Given the description of an element on the screen output the (x, y) to click on. 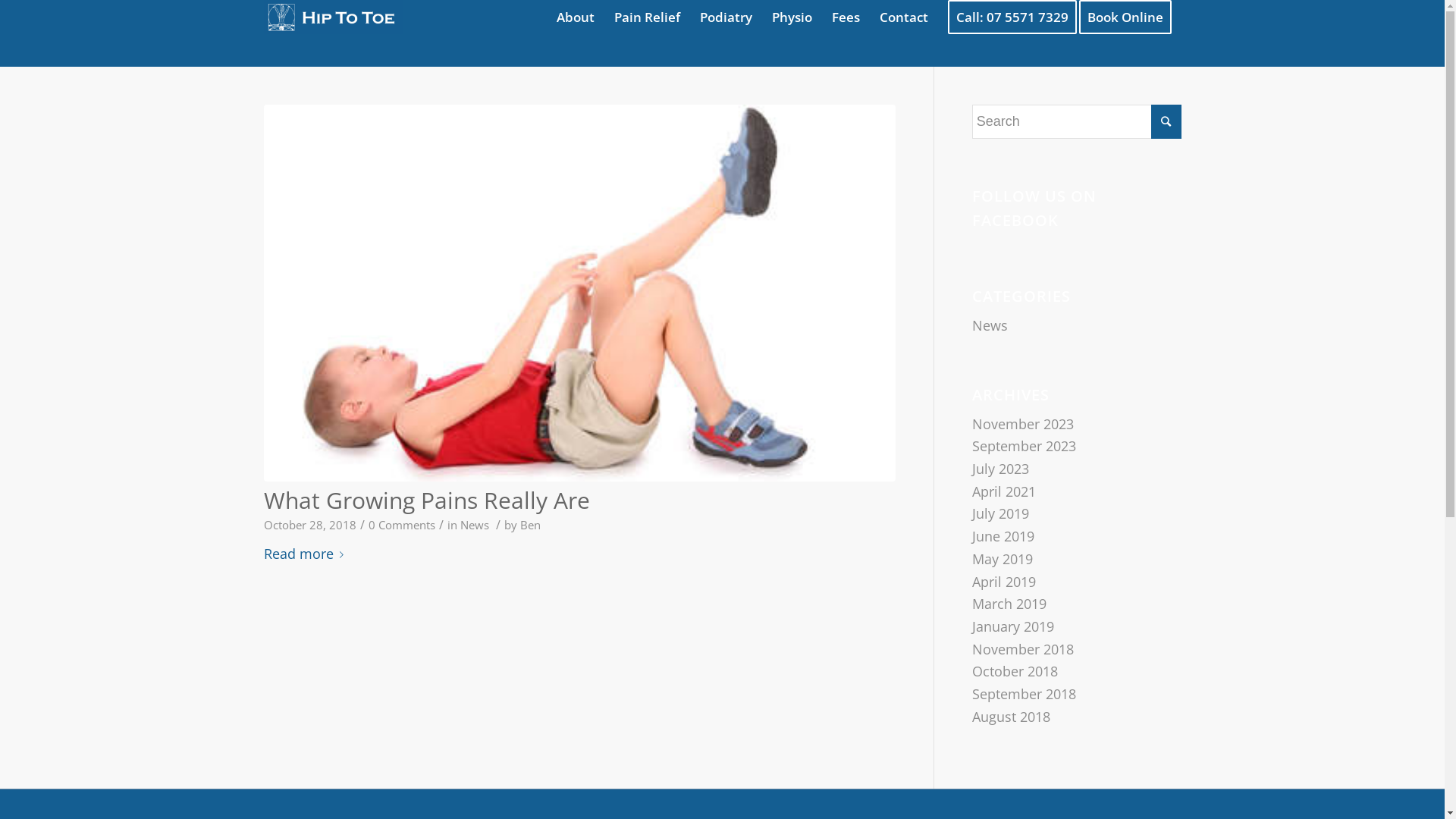
October 2018 Element type: text (1014, 671)
August 2018 Element type: text (1011, 716)
0 Comments Element type: text (401, 524)
Physio Element type: text (791, 17)
Podiatry Element type: text (726, 17)
Fees Element type: text (845, 17)
April 2019 Element type: text (1003, 580)
May 2019 Element type: text (1002, 558)
What Growing Pains Really Are Element type: text (426, 499)
About Element type: text (574, 17)
Pain Relief Element type: text (646, 17)
Book Online Element type: text (1129, 17)
September 2018 Element type: text (1024, 693)
January 2019 Element type: text (1013, 626)
March 2019 Element type: text (1009, 603)
November 2023 Element type: text (1022, 423)
September 2023 Element type: text (1024, 445)
April 2021 Element type: text (1003, 491)
June 2019 Element type: text (1003, 536)
News Element type: text (473, 524)
July 2023 Element type: text (1000, 468)
Growing Pain Treatment for Children on The Gold Coast Element type: hover (579, 292)
Read more Element type: text (306, 554)
News Element type: text (989, 325)
November 2018 Element type: text (1022, 649)
July 2019 Element type: text (1000, 513)
Ben Element type: text (530, 524)
Call: 07 5571 7329 Element type: text (1011, 17)
Contact Element type: text (903, 17)
